Given the description of an element on the screen output the (x, y) to click on. 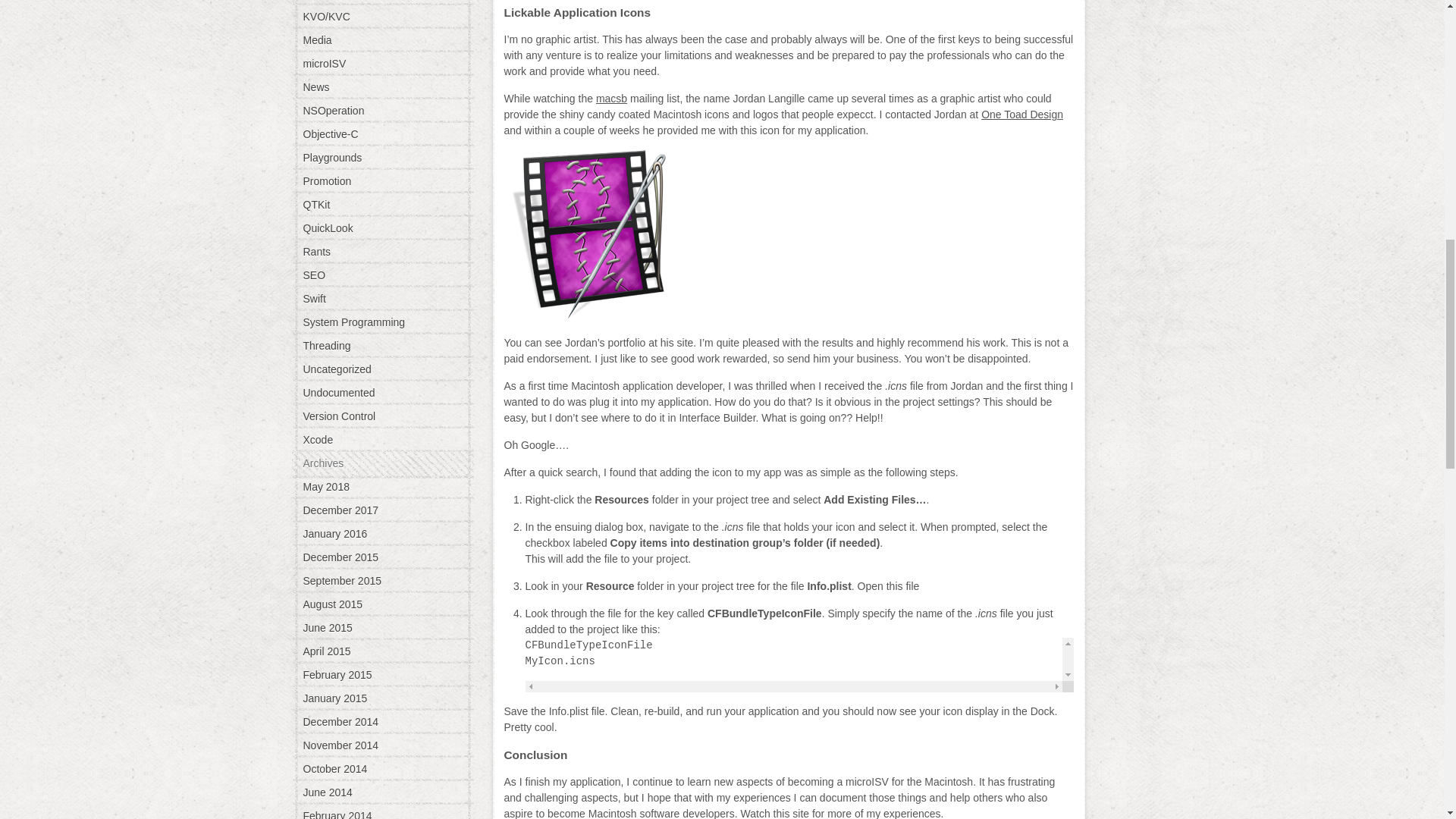
microISV (382, 63)
QTKit (382, 204)
News (382, 87)
Objective-C (382, 133)
Promotion (382, 181)
QuickLook (382, 227)
NSOperation (382, 110)
Media (382, 39)
Playgrounds (382, 157)
